Given the description of an element on the screen output the (x, y) to click on. 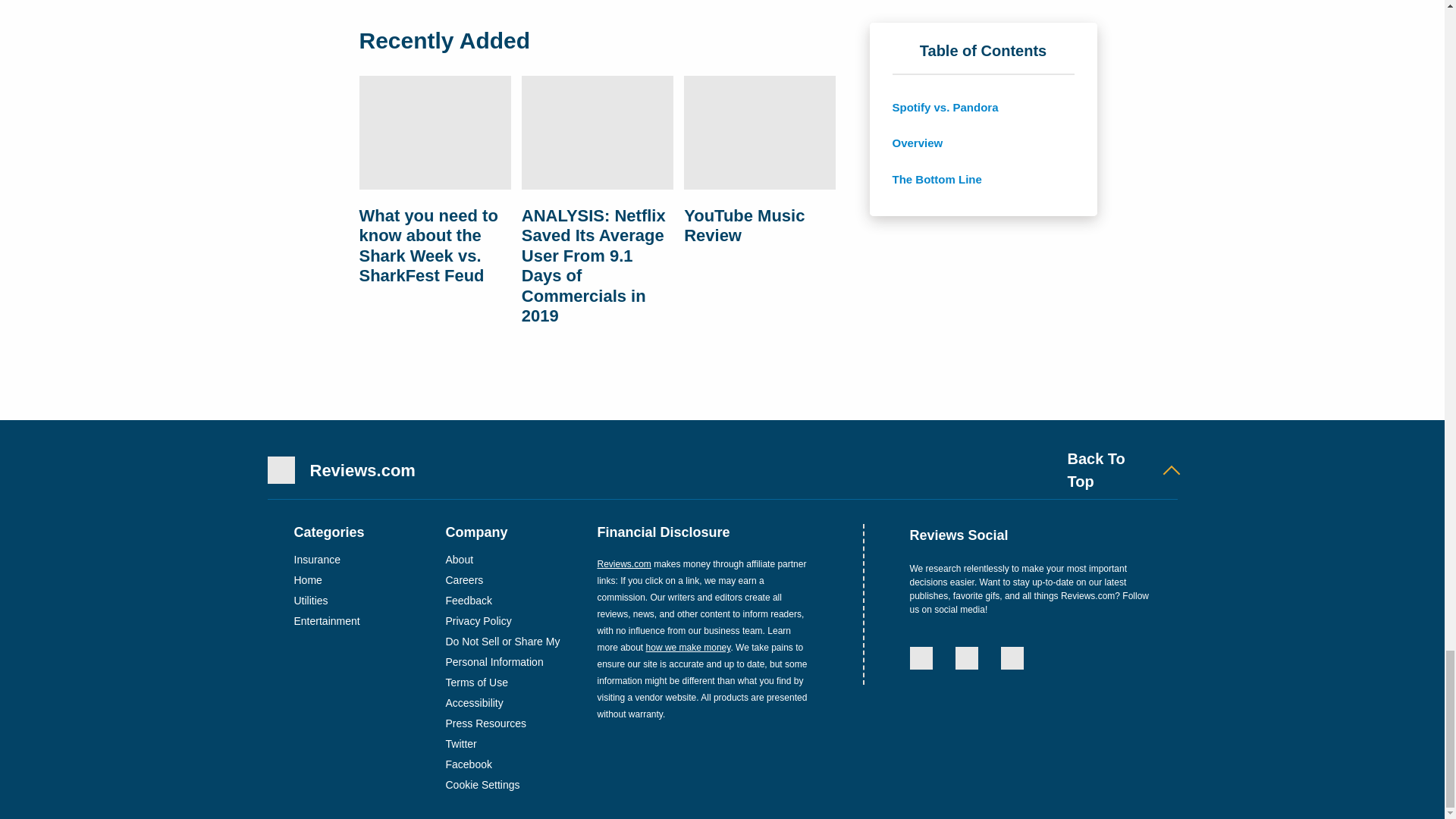
YouTube Music Review (759, 134)
